Given the description of an element on the screen output the (x, y) to click on. 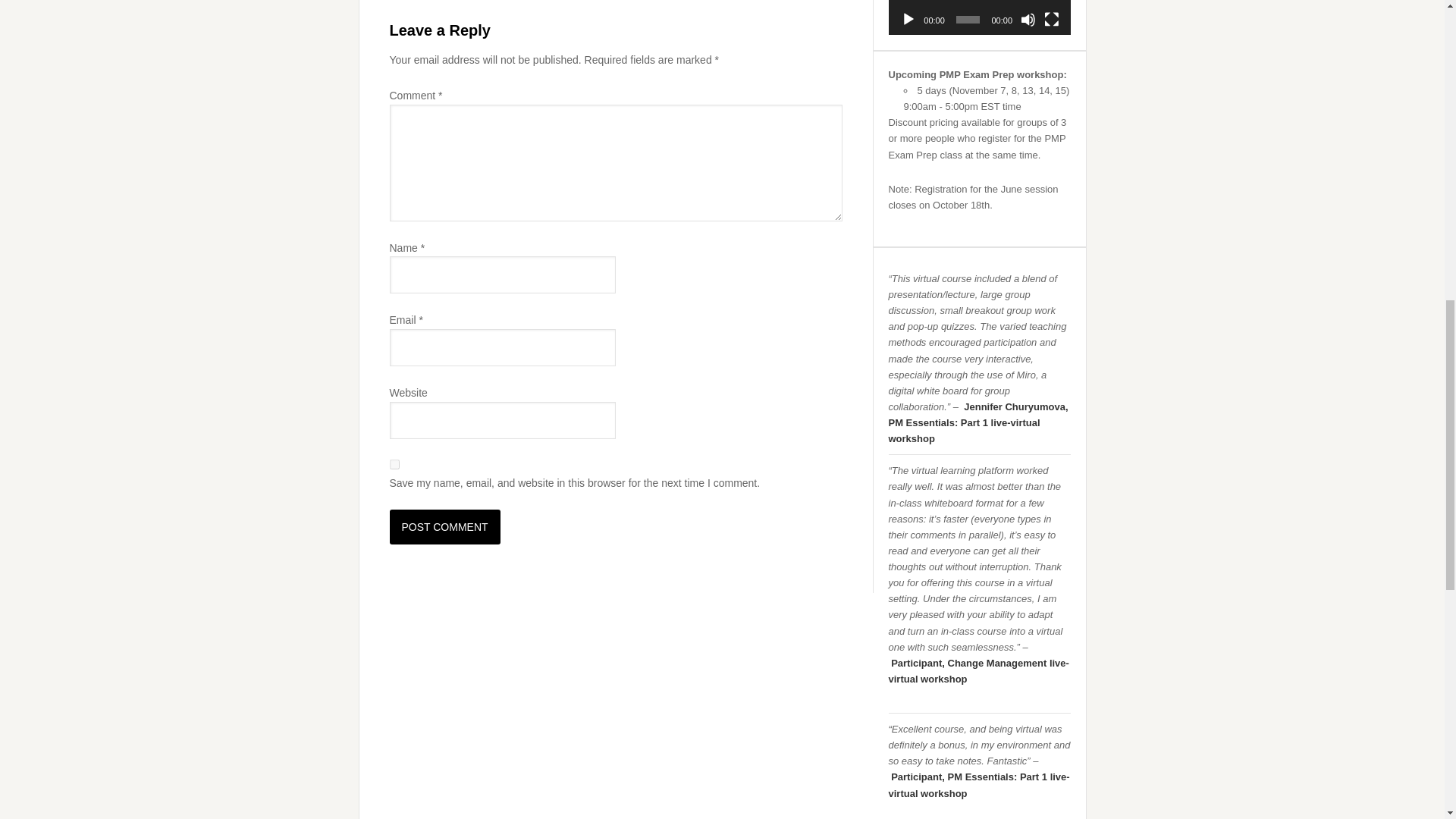
Play (908, 19)
Fullscreen (1051, 19)
yes (394, 464)
Mute (1027, 19)
Post Comment (445, 526)
